Given the description of an element on the screen output the (x, y) to click on. 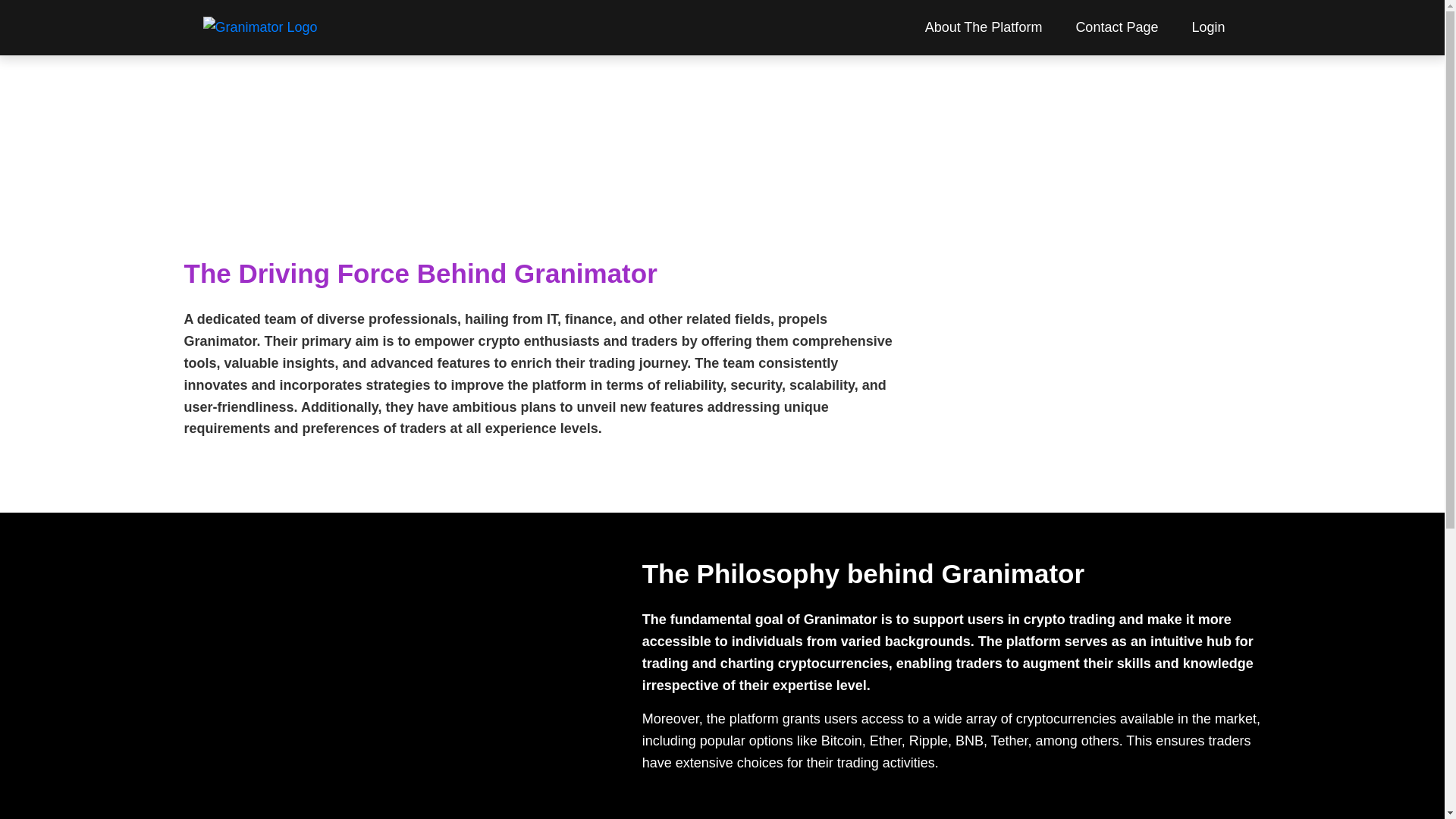
Login (1207, 27)
About The Platform (983, 27)
Contact Page (1116, 27)
